Given the description of an element on the screen output the (x, y) to click on. 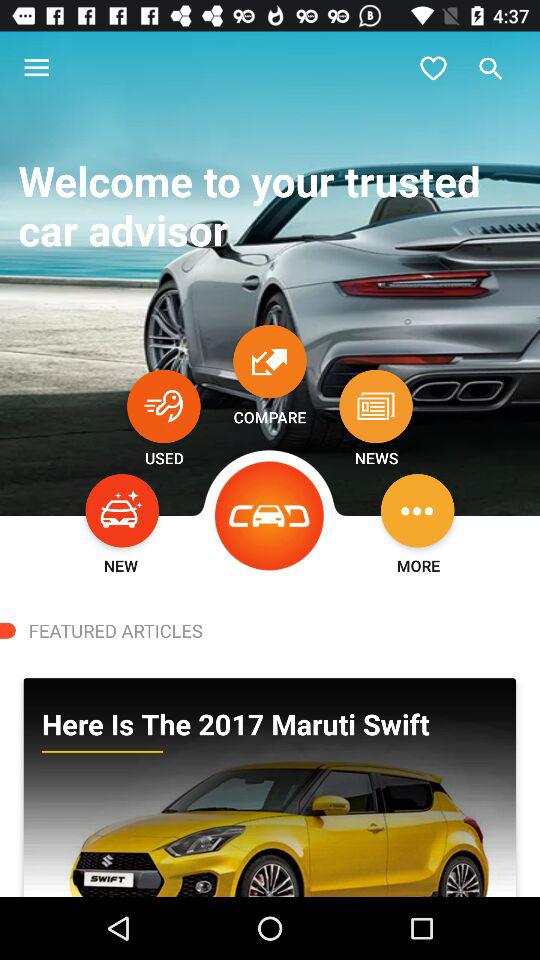
press icon at the top left corner (36, 68)
